Given the description of an element on the screen output the (x, y) to click on. 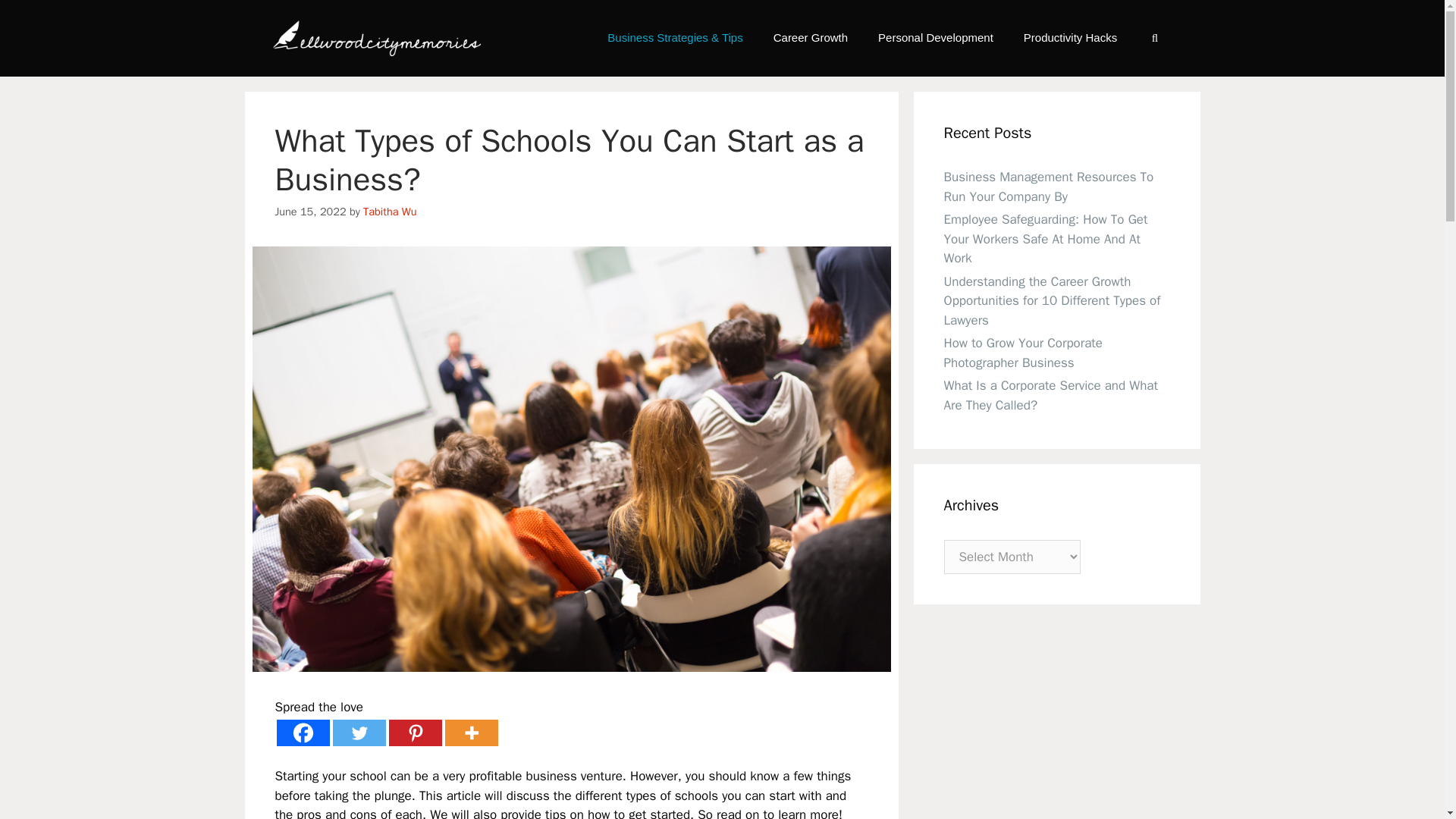
More (470, 732)
What Is a Corporate Service and What Are They Called? (1050, 395)
Pinterest (414, 732)
How to Grow Your Corporate Photographer Business (1022, 352)
Personal Development (936, 37)
View all posts by Tabitha Wu (389, 211)
Productivity Hacks (1070, 37)
Tabitha Wu (389, 211)
Facebook (302, 732)
Career Growth (810, 37)
Twitter (358, 732)
Business Management Resources To Run Your Company By (1048, 186)
